Given the description of an element on the screen output the (x, y) to click on. 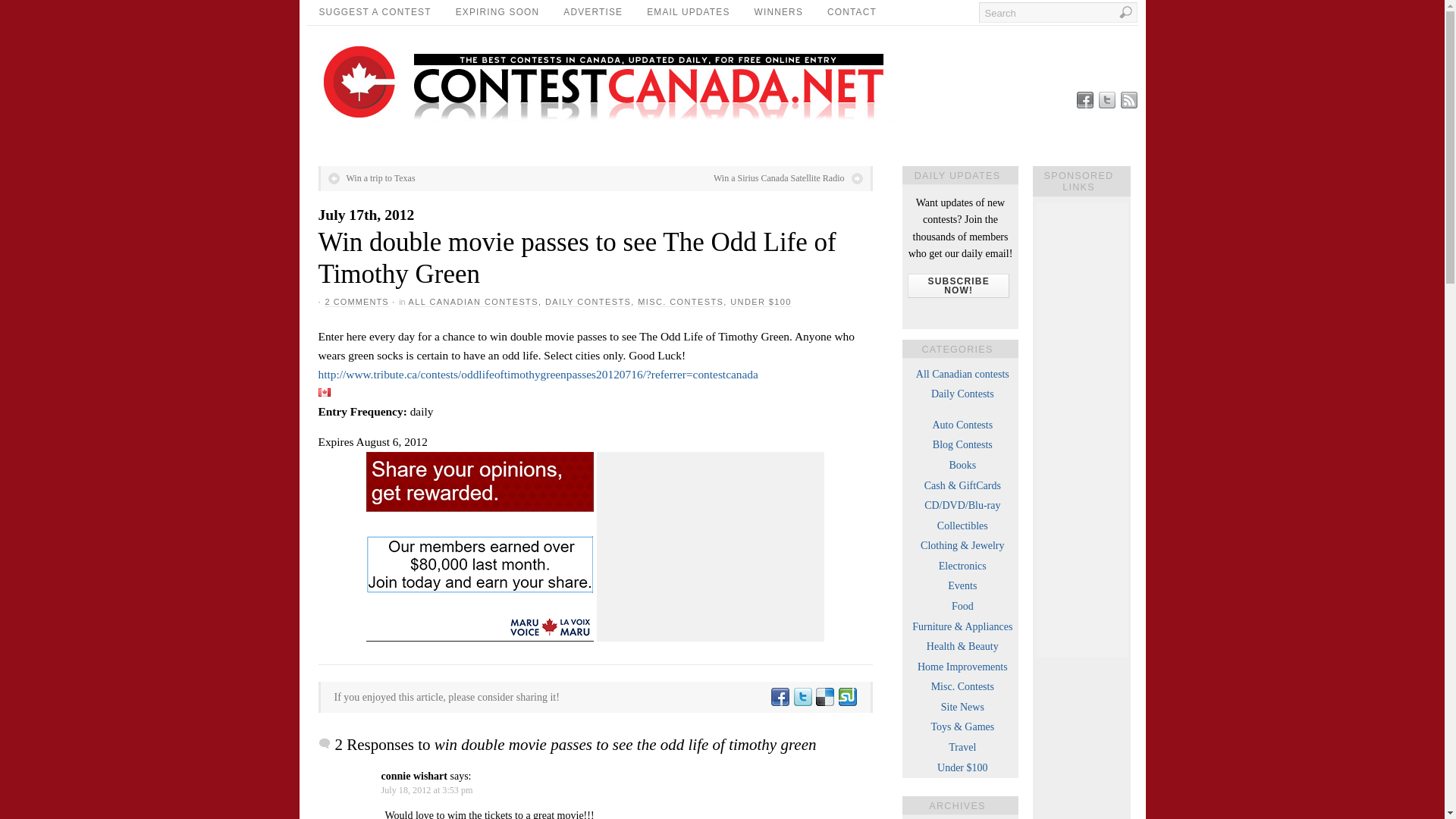
For Book Contests in Canada (962, 464)
July 18, 2012 at 3:53 pm (425, 789)
Blog Contests (962, 444)
Events (961, 585)
Share on Delicious (823, 696)
CONTACT (851, 12)
All Canadian contests (962, 374)
WINNERS (778, 12)
Win a trip to Texas (370, 177)
Canadian contests and sweepstakes with cash prizes. (962, 485)
